Given the description of an element on the screen output the (x, y) to click on. 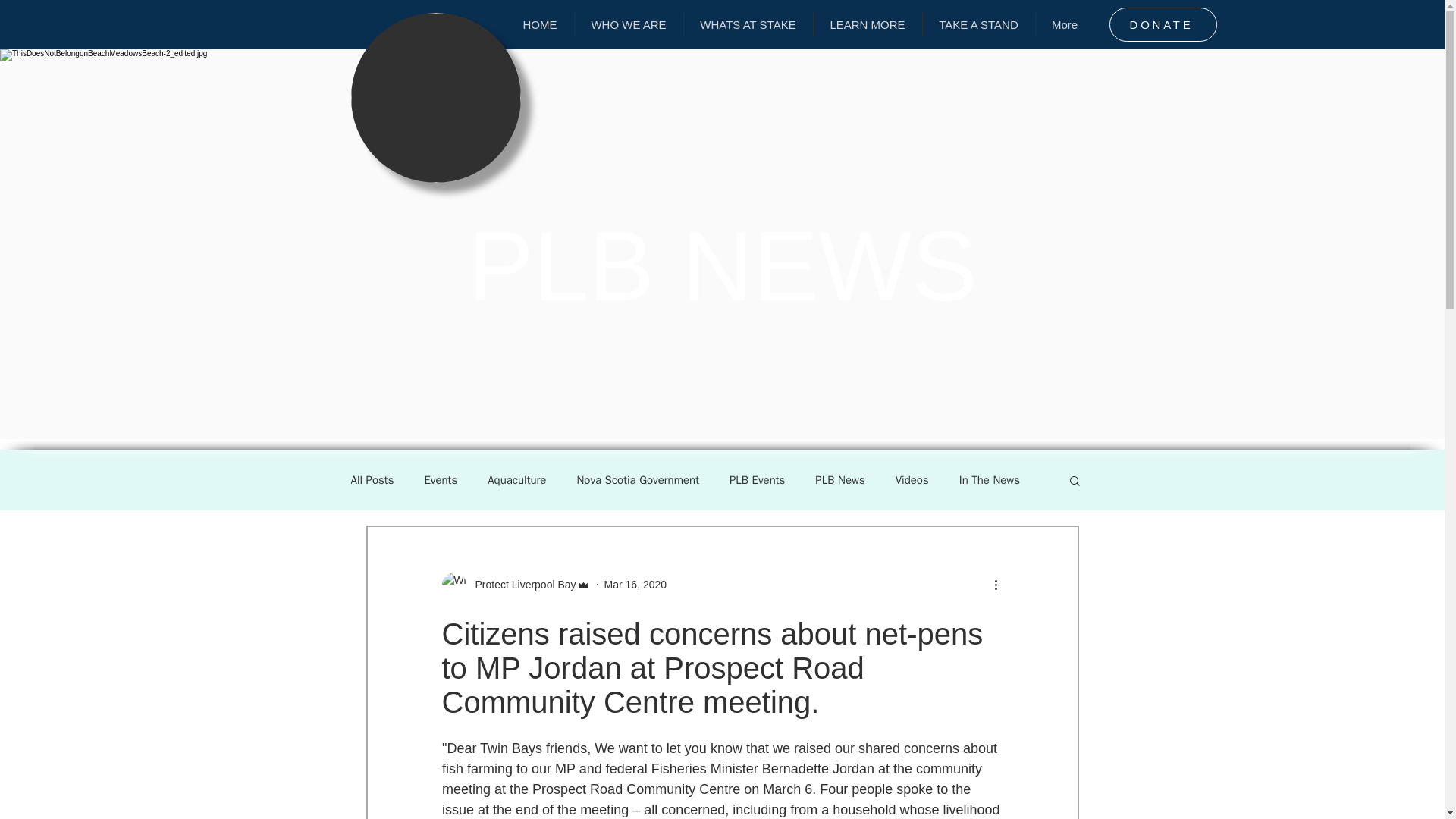
PLB Events (756, 480)
Aquaculture (516, 480)
WHO WE ARE (628, 24)
DONATE (1161, 24)
LEARN MORE (866, 24)
HOME (539, 24)
Button-Logo.JPG (434, 97)
TAKE A STAND (977, 24)
WHATS AT STAKE (748, 24)
In The News (989, 480)
